Given the description of an element on the screen output the (x, y) to click on. 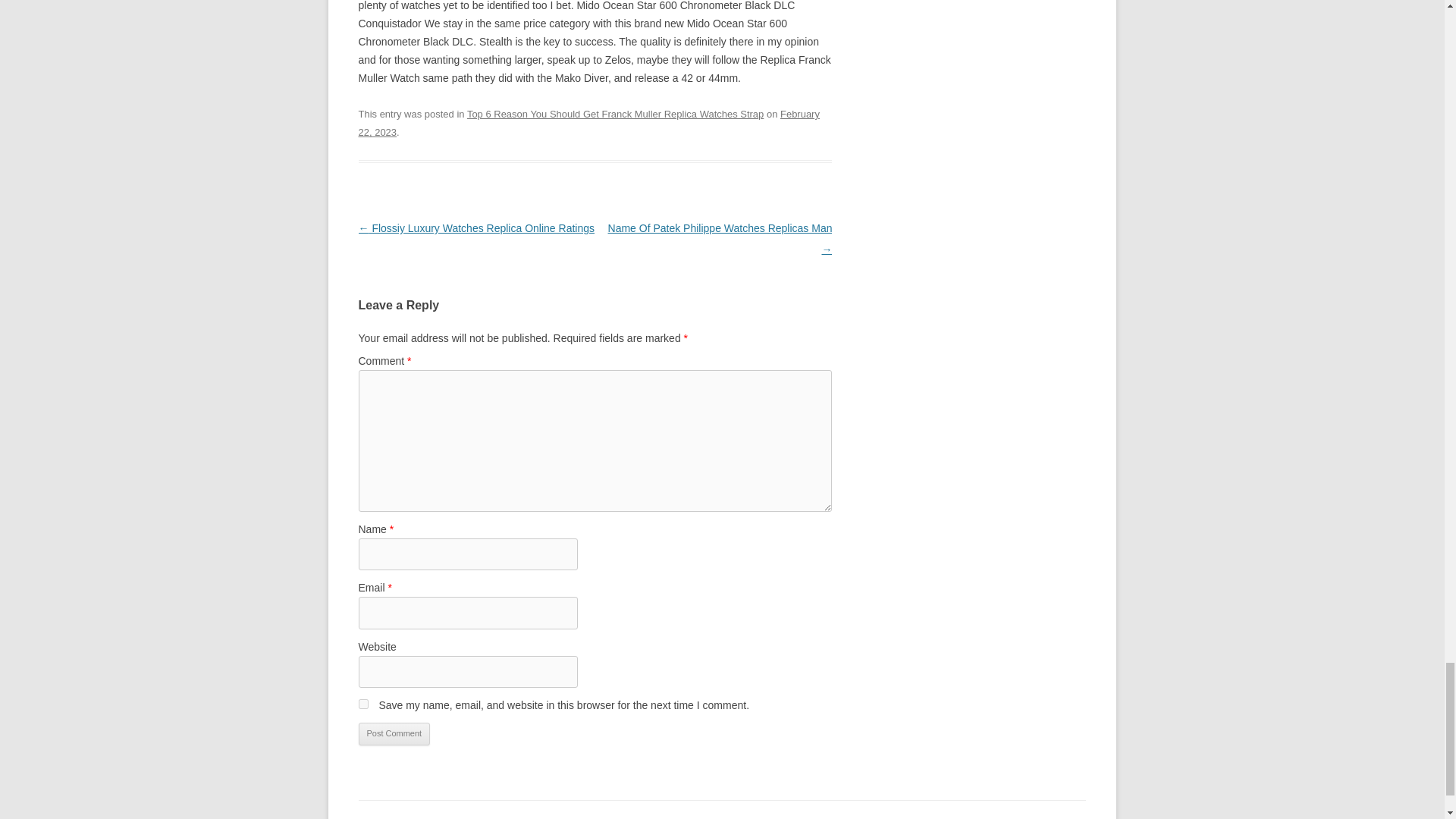
February 22, 2023 (588, 123)
Post Comment (393, 733)
yes (363, 704)
8:20 pm (588, 123)
Post Comment (393, 733)
